Given the description of an element on the screen output the (x, y) to click on. 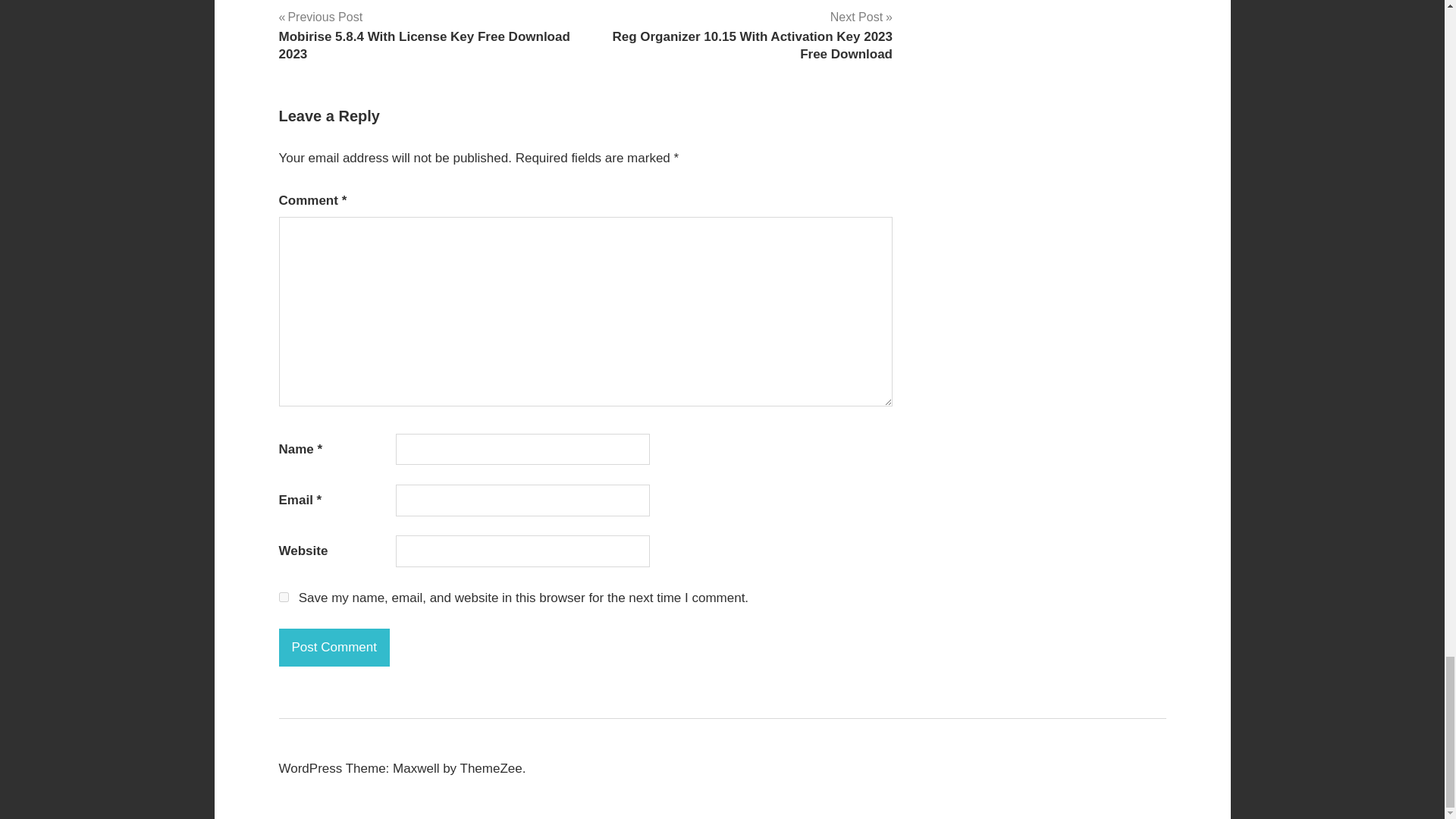
yes (283, 596)
Post Comment (334, 647)
